Given the description of an element on the screen output the (x, y) to click on. 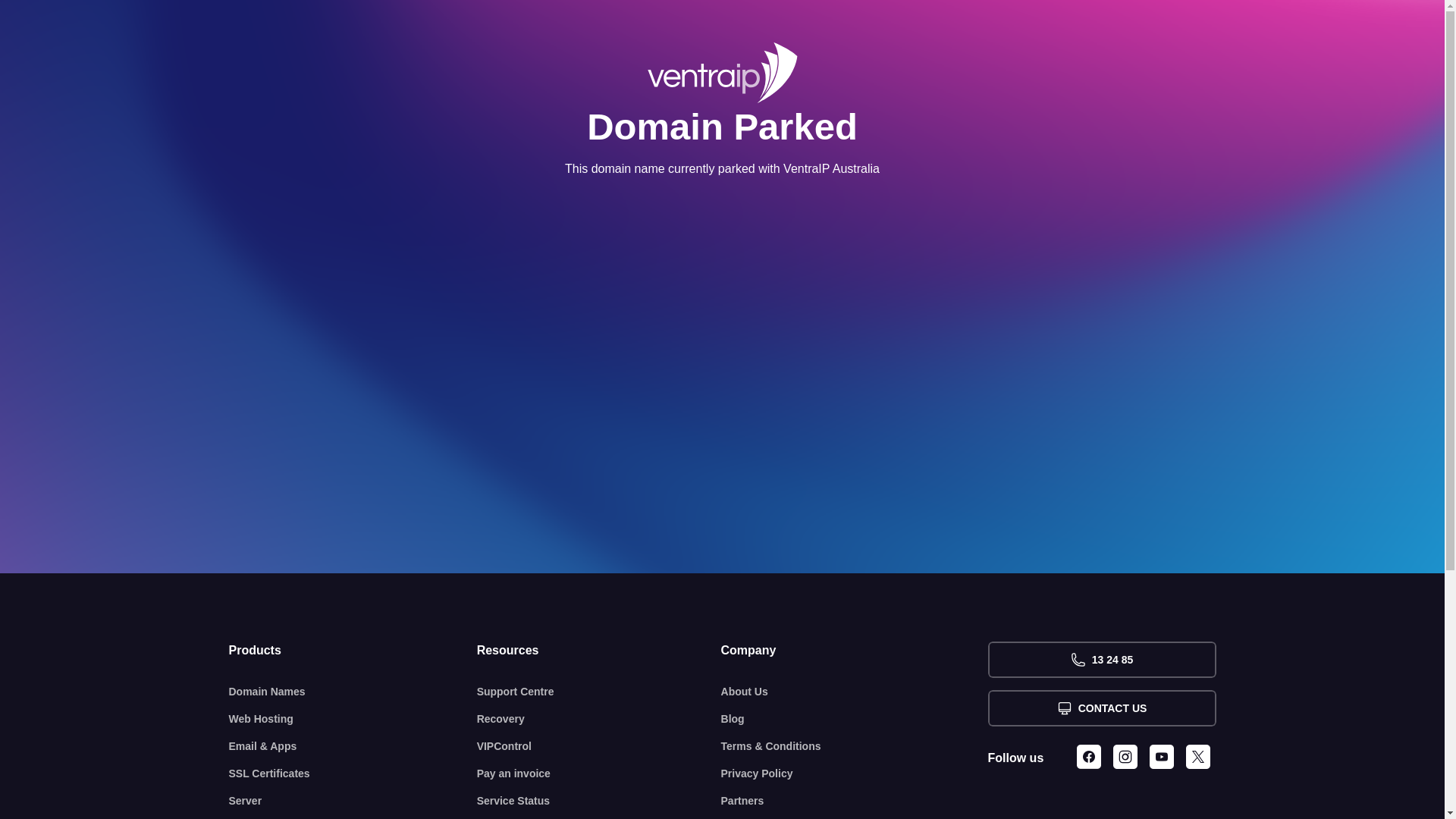
Web Hosting Element type: text (352, 718)
SSL Certificates Element type: text (352, 773)
Blog Element type: text (854, 718)
VIPControl Element type: text (598, 745)
Server Element type: text (352, 800)
CONTACT US Element type: text (1101, 708)
13 24 85 Element type: text (1101, 659)
Privacy Policy Element type: text (854, 773)
Terms & Conditions Element type: text (854, 745)
Pay an invoice Element type: text (598, 773)
Partners Element type: text (854, 800)
Support Centre Element type: text (598, 691)
Recovery Element type: text (598, 718)
Domain Names Element type: text (352, 691)
Email & Apps Element type: text (352, 745)
About Us Element type: text (854, 691)
Service Status Element type: text (598, 800)
